Given the description of an element on the screen output the (x, y) to click on. 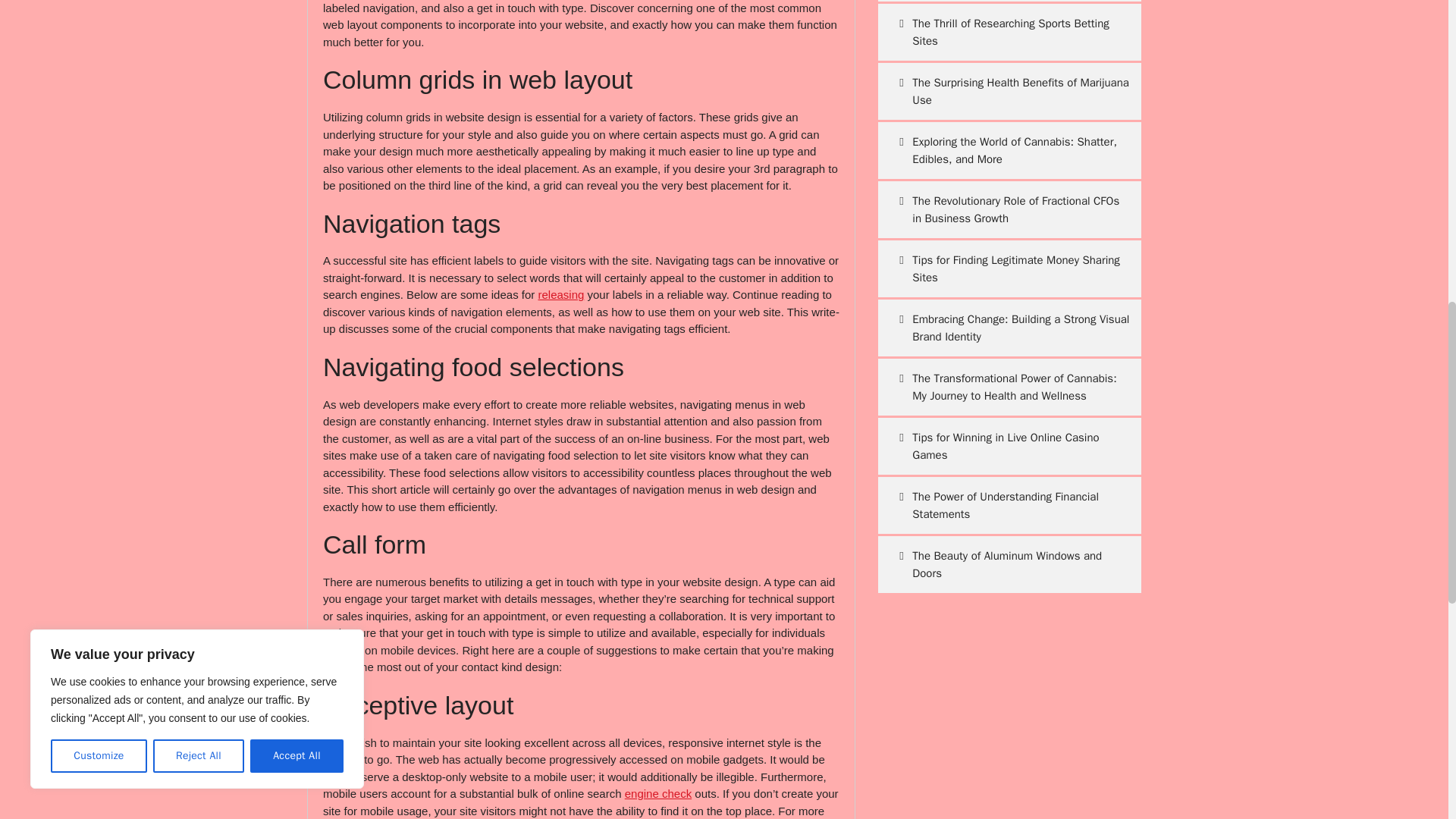
engine check (657, 793)
releasing (560, 294)
